Given the description of an element on the screen output the (x, y) to click on. 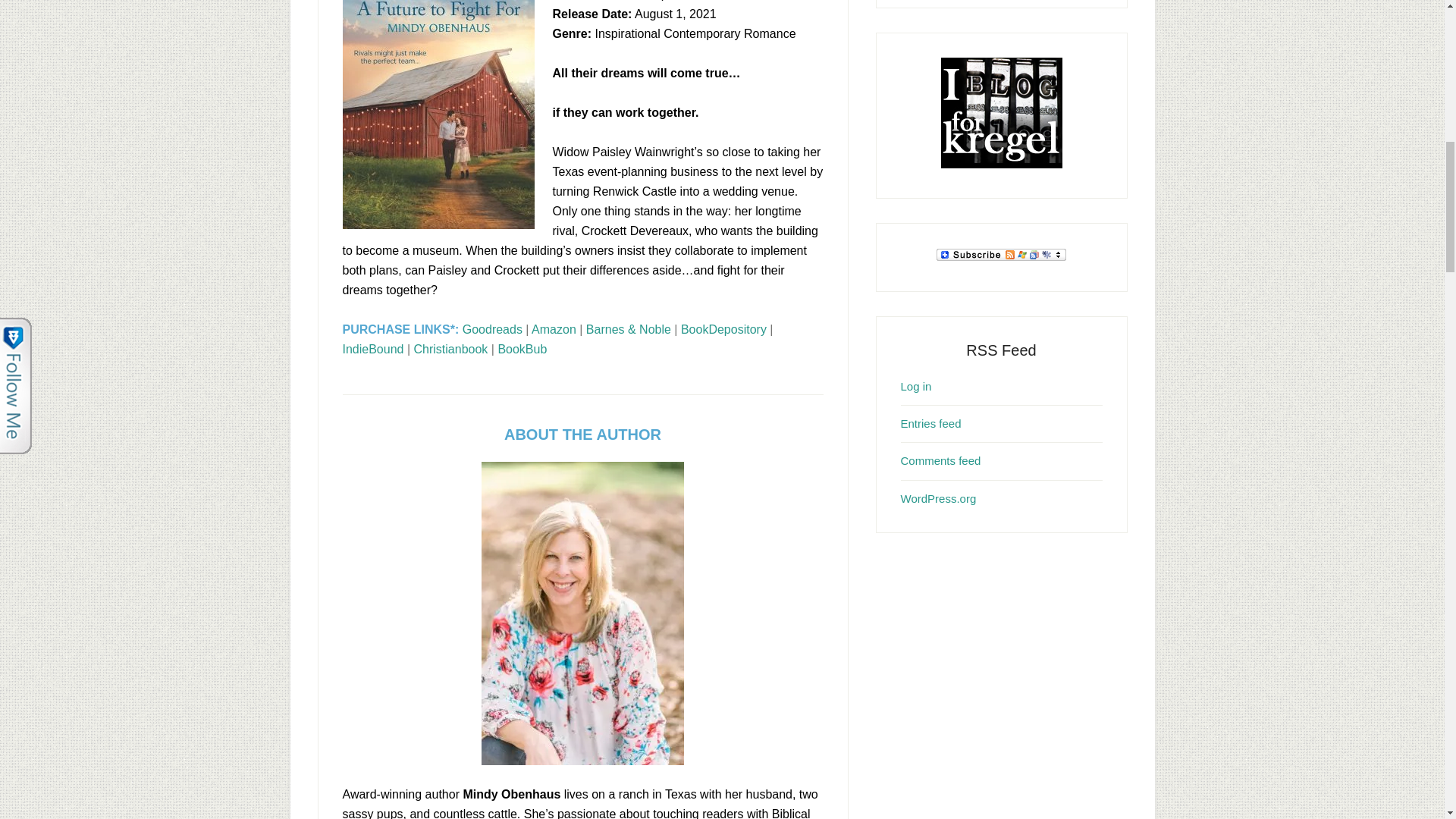
Goodreads (492, 328)
BookDepository (724, 328)
IndieBound (373, 349)
Amazon (553, 328)
Christianbook (450, 349)
BookBub (522, 349)
